Given the description of an element on the screen output the (x, y) to click on. 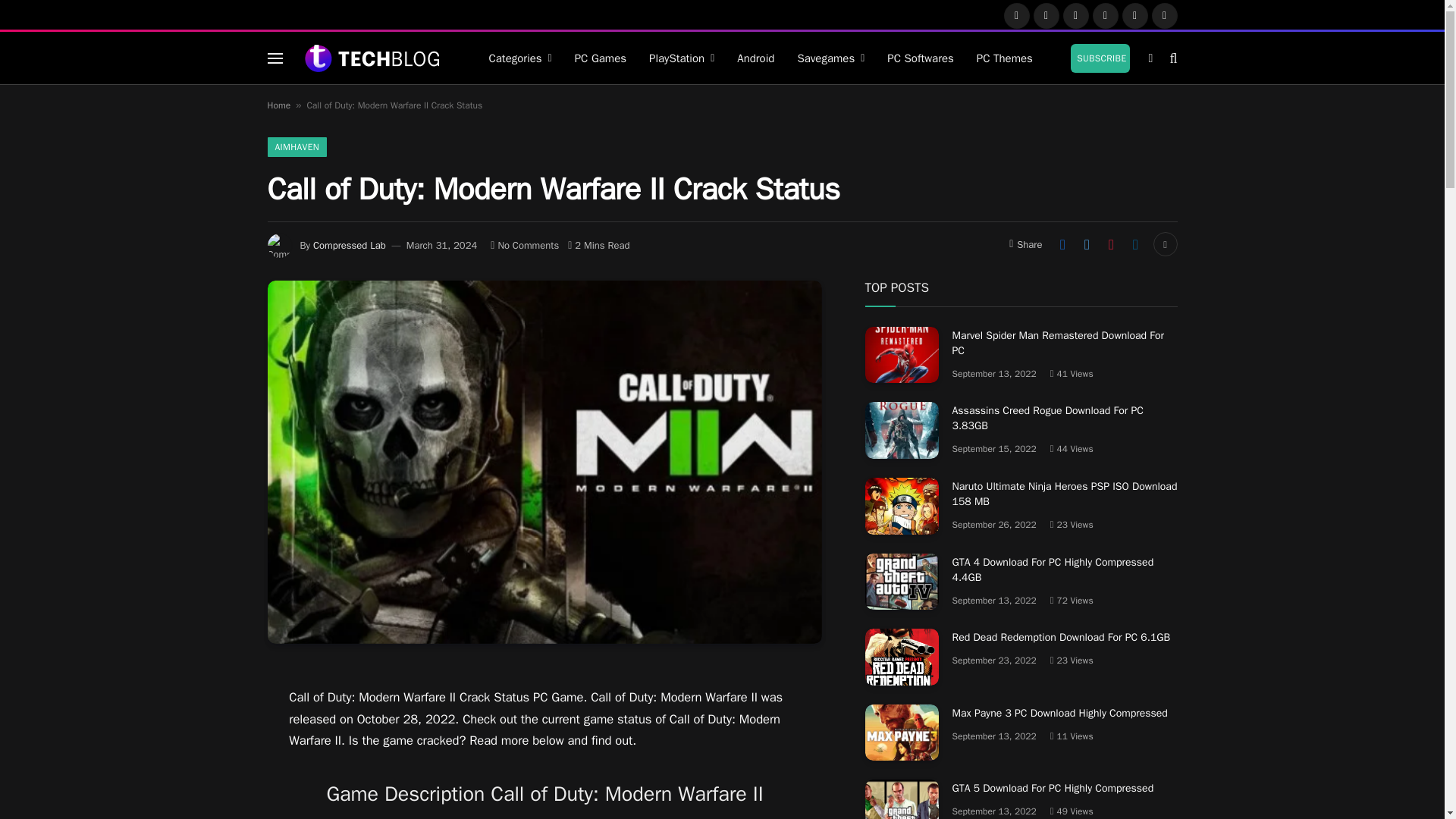
Twitter (1046, 15)
Switch to Light Design. (1149, 57)
Android (755, 57)
PC Games (600, 57)
Pinterest (1105, 15)
YouTube (1135, 15)
Share on LinkedIn (1135, 243)
Categories (520, 57)
Show More Social Sharing (1164, 243)
Facebook (1016, 15)
Instagram (1075, 15)
PlayStation (681, 57)
Share on Twitter (1086, 243)
Posts by Compressed Lab (349, 245)
Reddit (1164, 15)
